Given the description of an element on the screen output the (x, y) to click on. 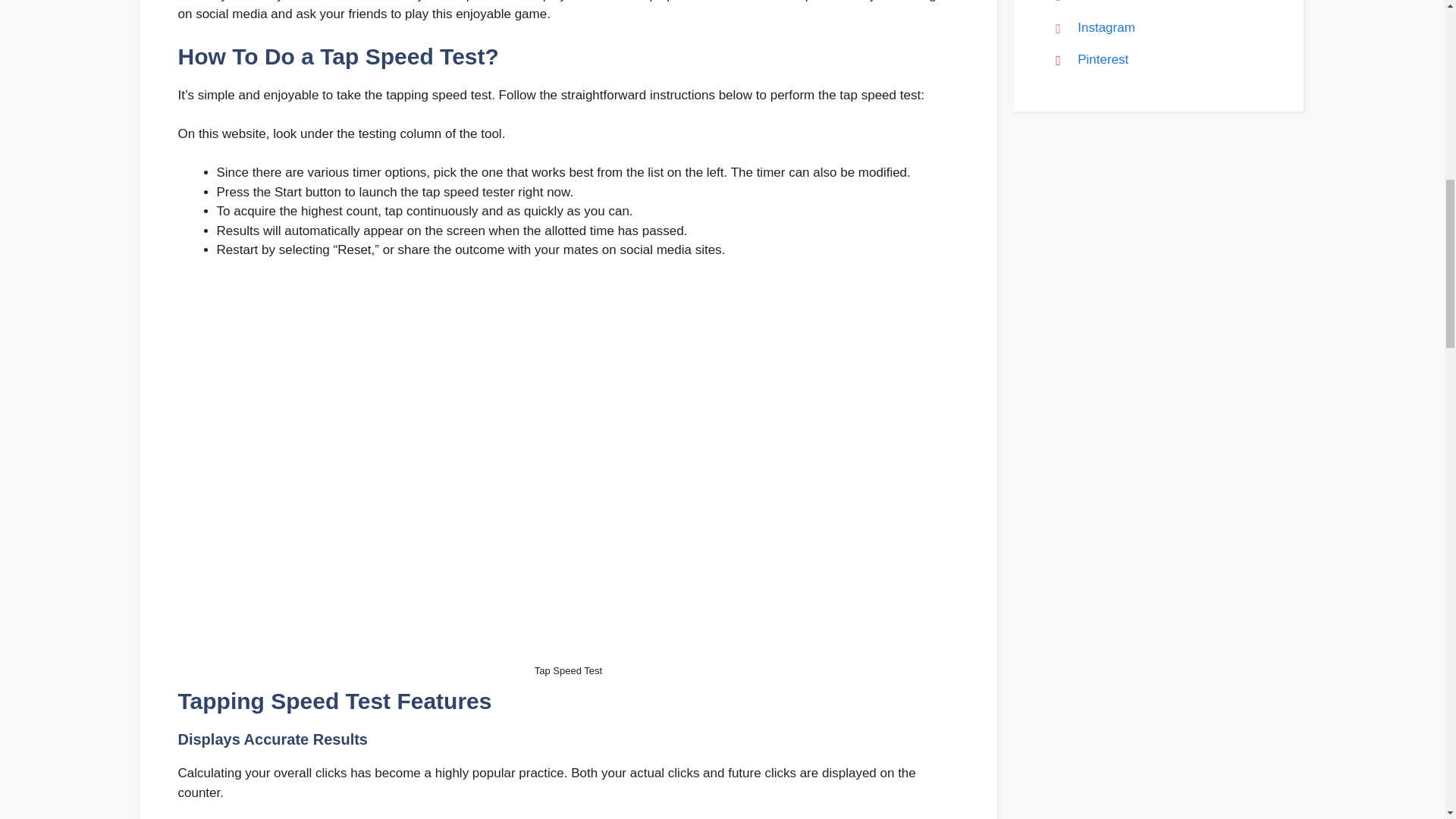
Instagram (1089, 27)
Pinterest (1086, 59)
Twitter (1080, 1)
